Given the description of an element on the screen output the (x, y) to click on. 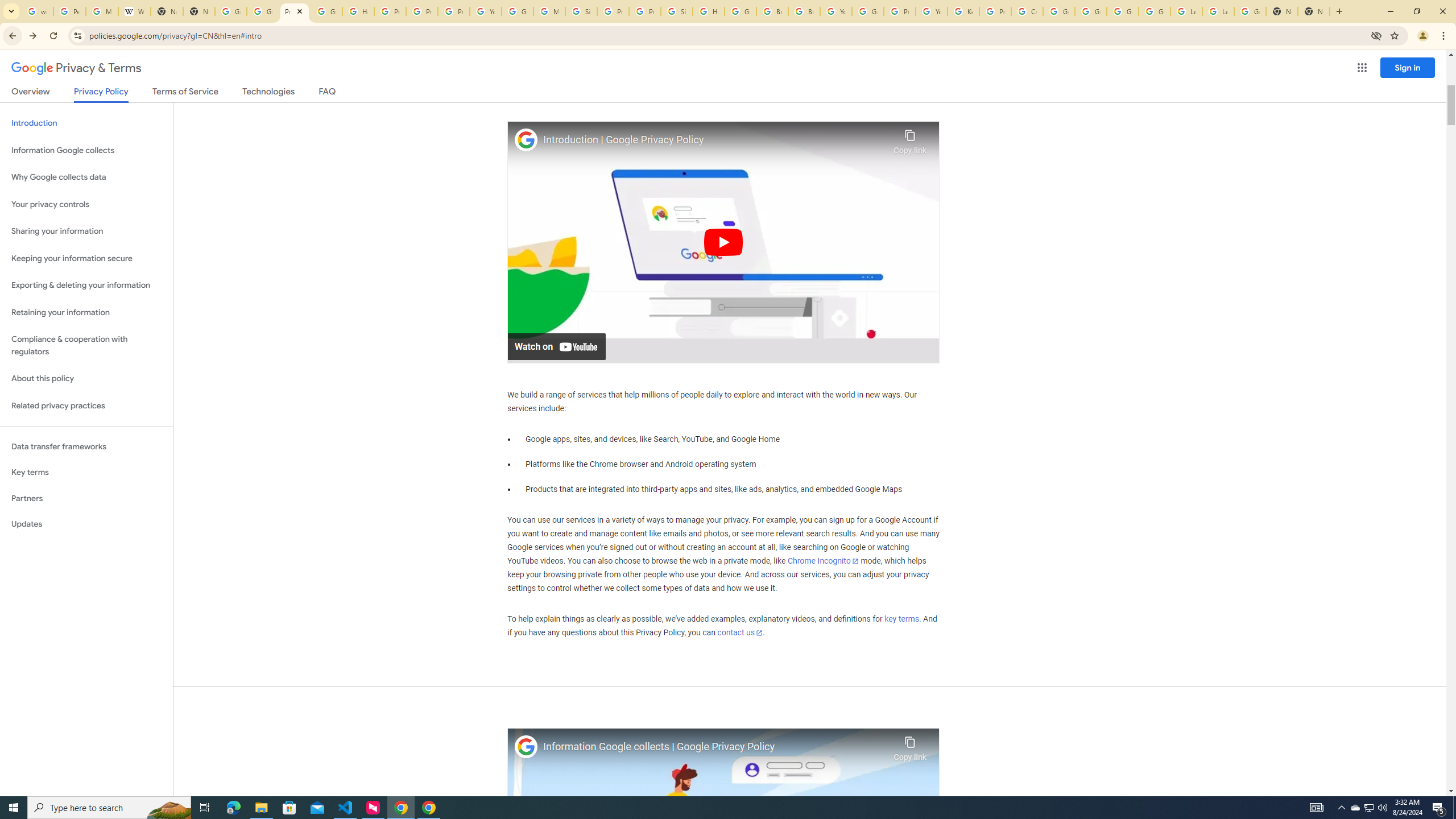
New Tab (1313, 11)
Personalization & Google Search results - Google Search Help (69, 11)
Google Account Help (1059, 11)
YouTube (836, 11)
Google Account (1249, 11)
Updates (86, 524)
Key terms (86, 472)
